Given the description of an element on the screen output the (x, y) to click on. 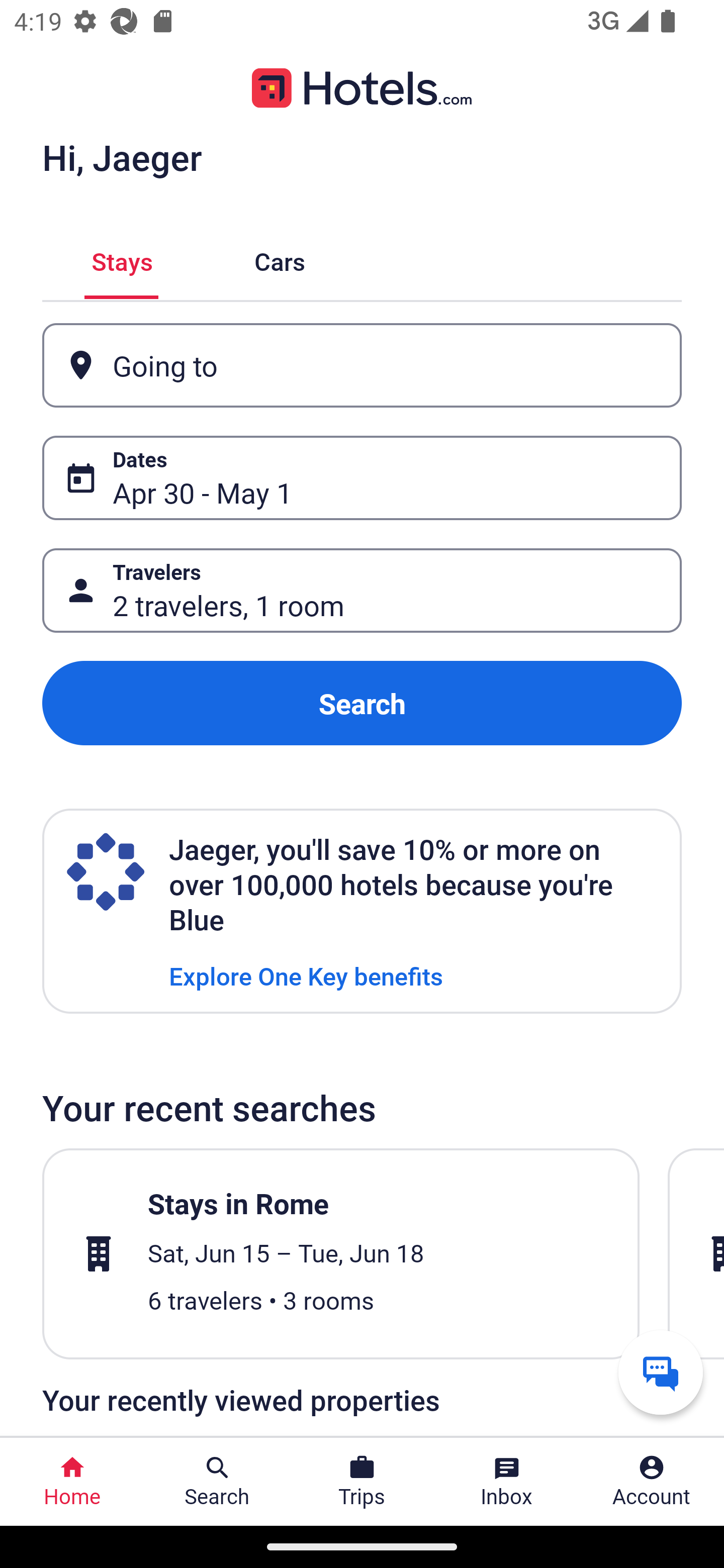
Hi, Jaeger (121, 156)
Cars (279, 259)
Going to Button (361, 365)
Dates Button Apr 30 - May 1 (361, 477)
Travelers Button 2 travelers, 1 room (361, 590)
Search (361, 702)
Get help from a virtual agent (660, 1371)
Search Search Button (216, 1481)
Trips Trips Button (361, 1481)
Inbox Inbox Button (506, 1481)
Account Profile. Button (651, 1481)
